Given the description of an element on the screen output the (x, y) to click on. 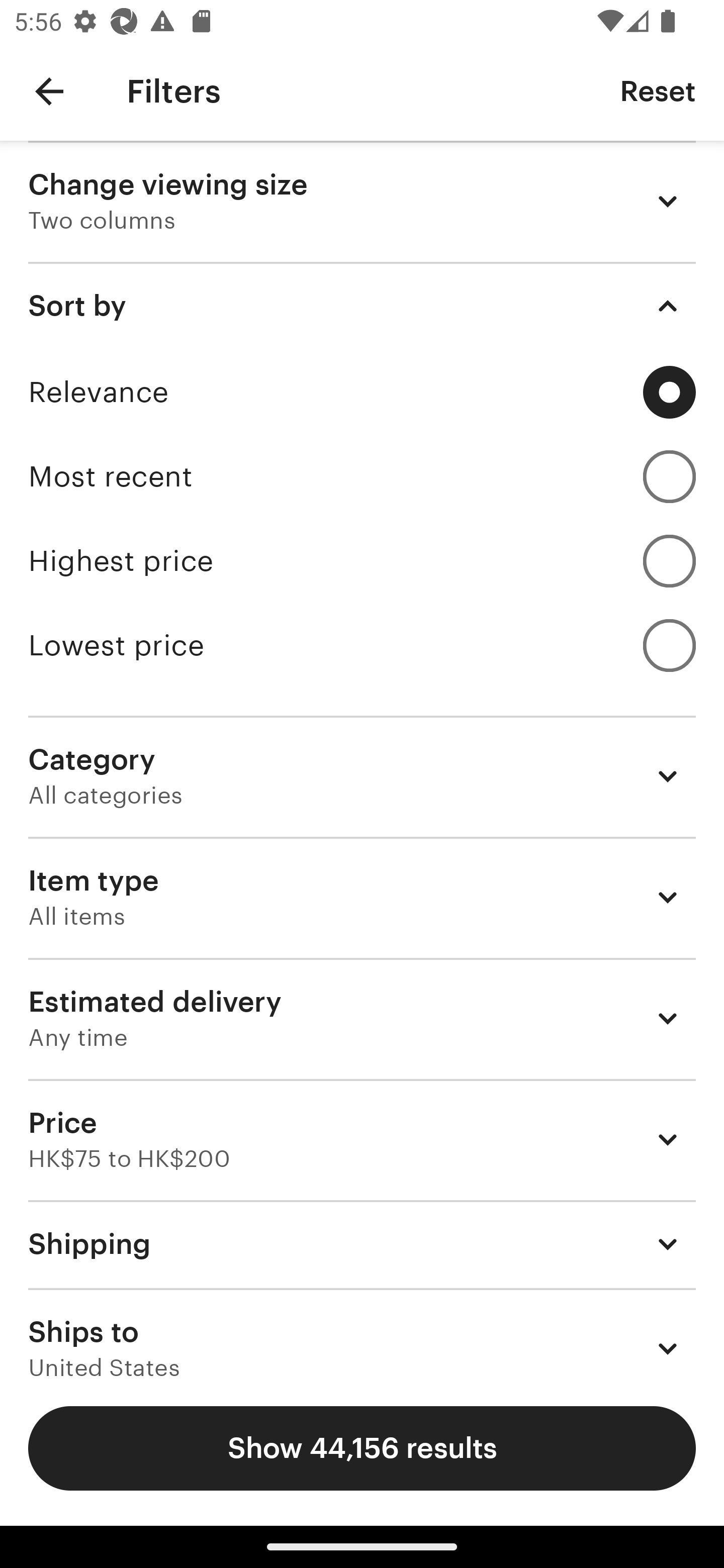
Navigate up (49, 91)
Reset (657, 90)
Change viewing size Two columns (362, 201)
Sort by (362, 305)
Relevance (362, 391)
Most recent (362, 476)
Highest price (362, 561)
Lowest price (362, 644)
Category All categories (362, 776)
Item type All items (362, 897)
Estimated delivery Any time (362, 1018)
Price HK$75 to HK$200 (362, 1138)
Shipping (362, 1243)
Ships to United States (362, 1332)
Show 44,156 results Show results (361, 1448)
